Given the description of an element on the screen output the (x, y) to click on. 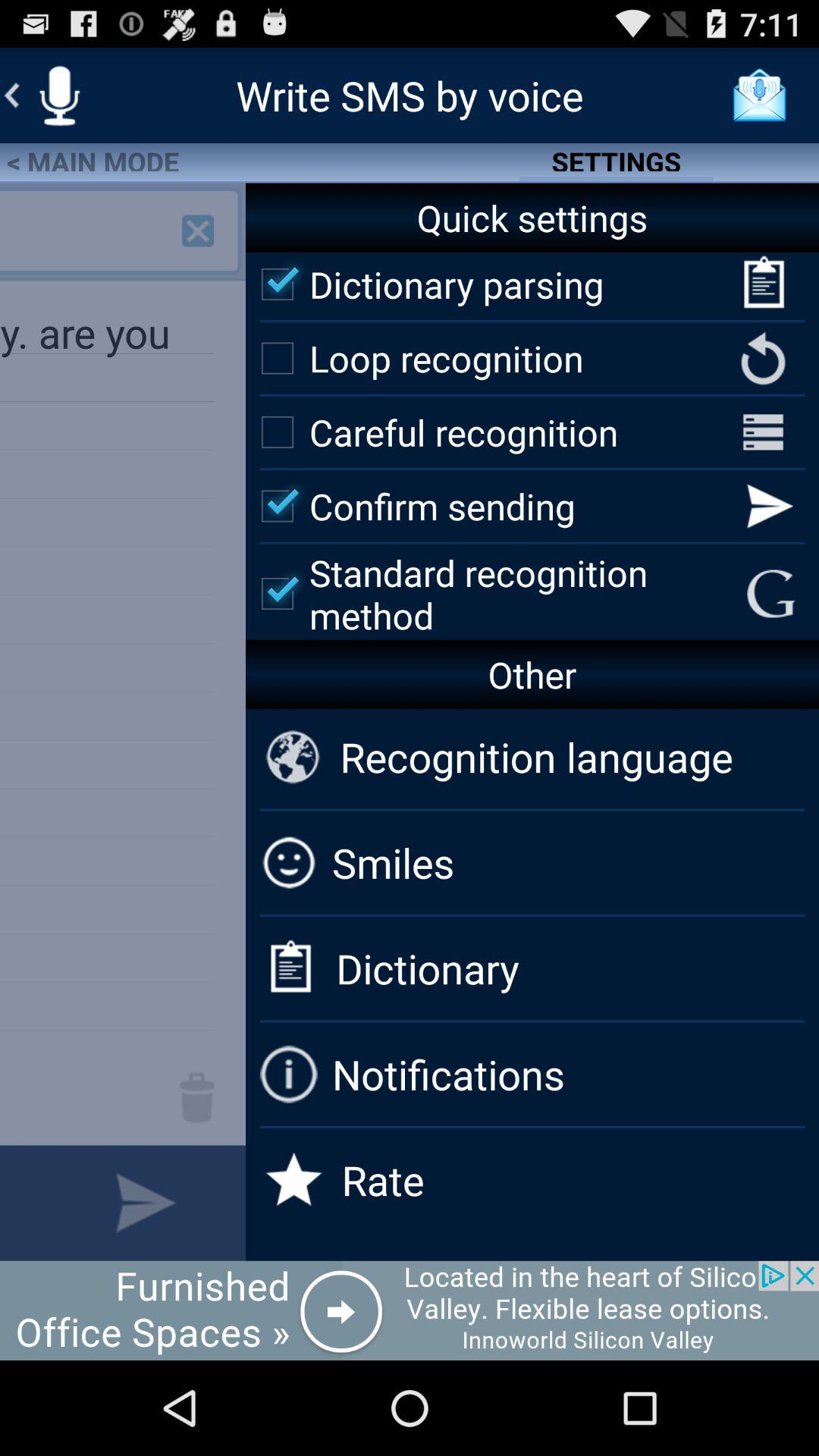
enter message (23, 1202)
